Given the description of an element on the screen output the (x, y) to click on. 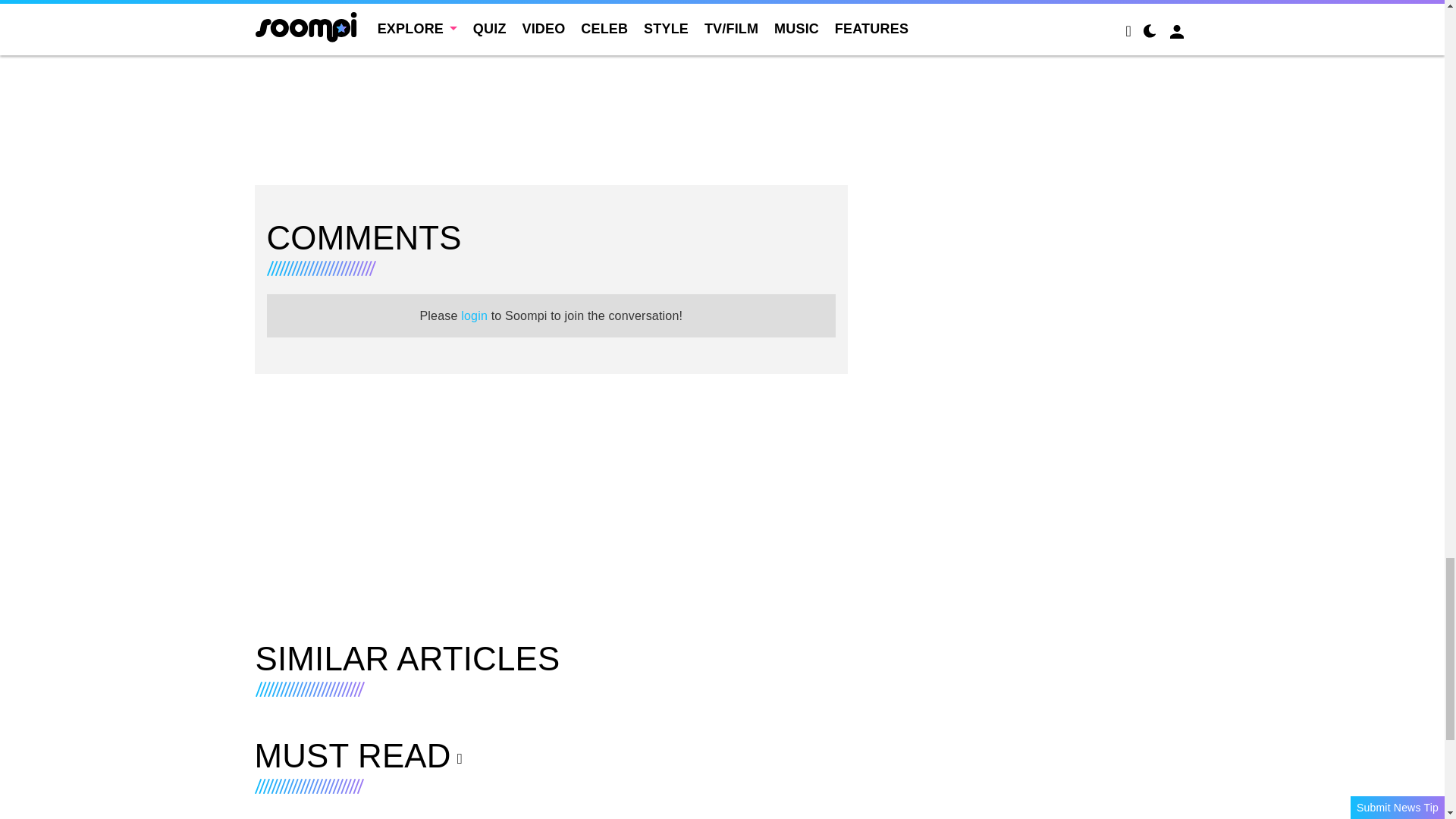
3rd party ad content (551, 53)
